Given the description of an element on the screen output the (x, y) to click on. 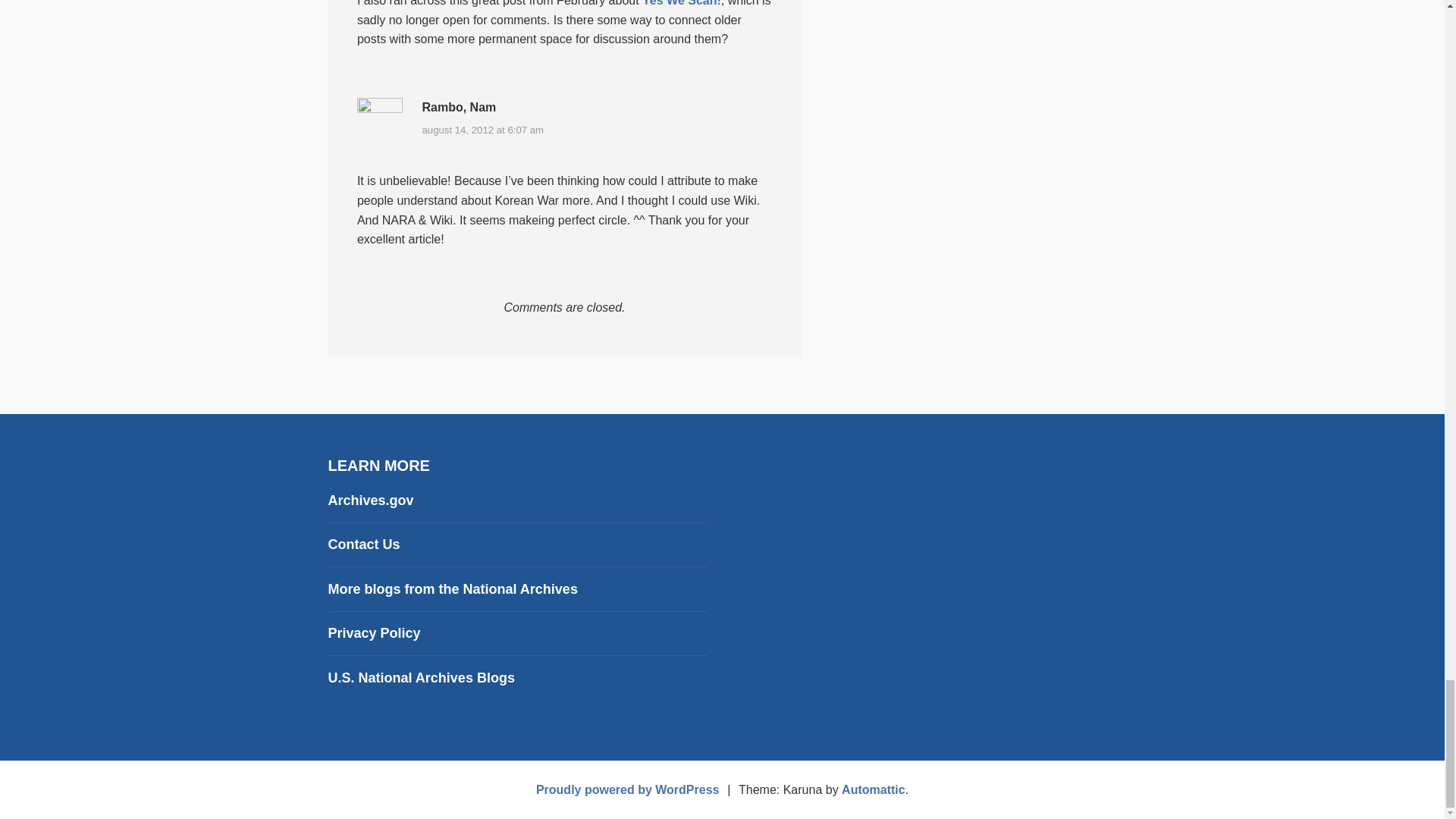
U.S. National Archives Blogroll (420, 677)
National Archives privacy policy (373, 632)
Contact information (362, 544)
U.S. National Archives Blogroll (451, 589)
